Given the description of an element on the screen output the (x, y) to click on. 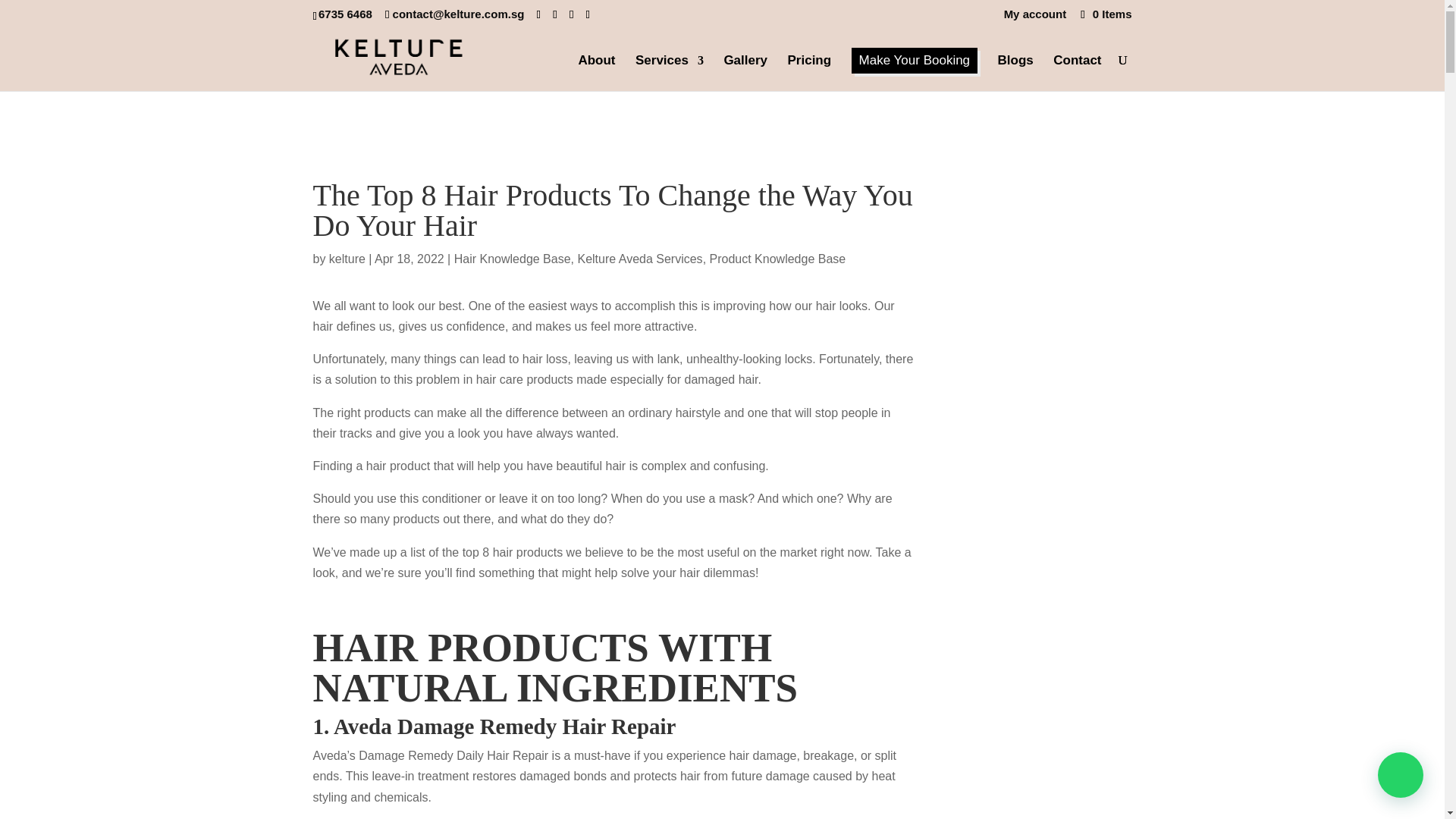
Services (668, 72)
Gallery (745, 72)
Posts by kelture (347, 258)
About (596, 72)
0 Items (1104, 13)
kelture (347, 258)
Contact (1076, 72)
Pricing (809, 72)
Make Your Booking (914, 60)
My account (1035, 17)
Blogs (1015, 72)
